Given the description of an element on the screen output the (x, y) to click on. 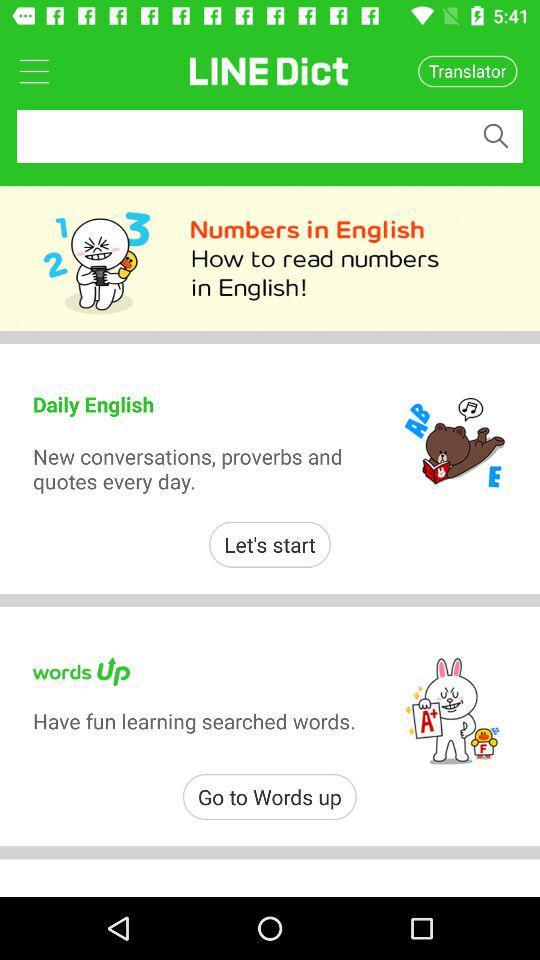
select go to words icon (269, 796)
